Given the description of an element on the screen output the (x, y) to click on. 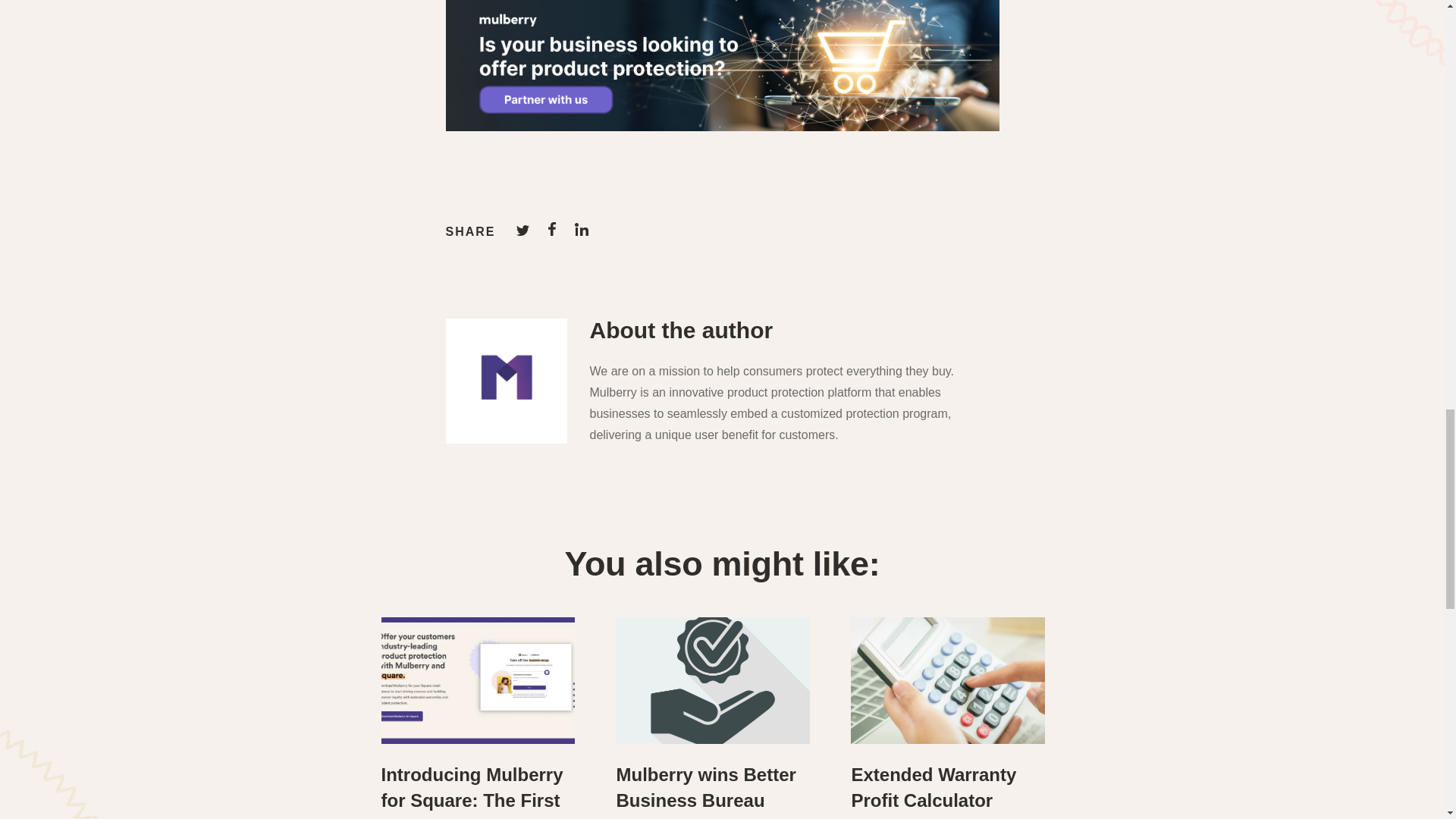
Extended Warranty Profit Calculator (933, 787)
Mulberry wins Better Business Bureau Accreditation (704, 791)
